Given the description of an element on the screen output the (x, y) to click on. 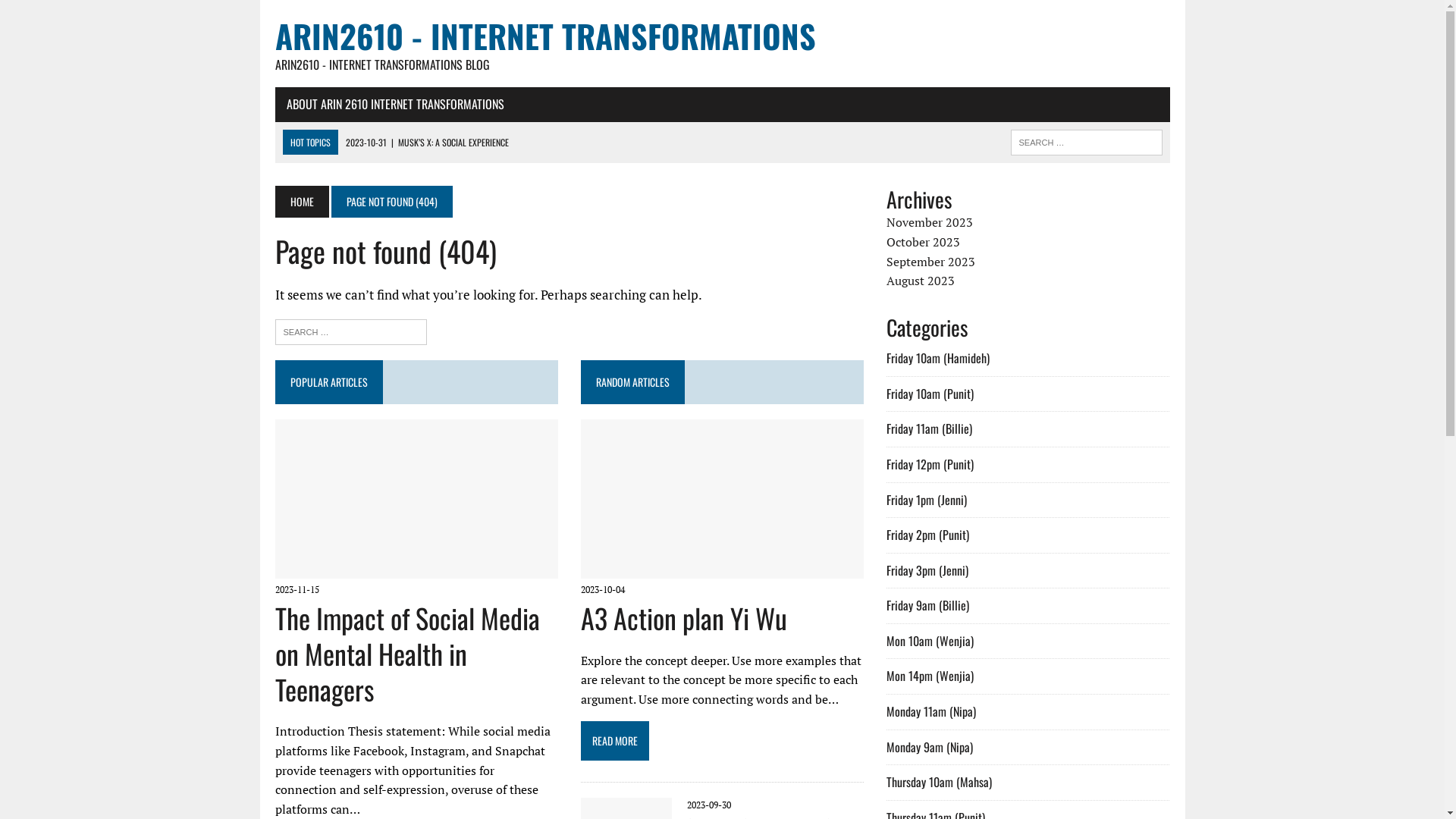
August 2023 Element type: text (920, 280)
Thursday 10am (Mahsa) Element type: text (938, 781)
Mon 14pm (Wenjia) Element type: text (929, 675)
Mon 10am (Wenjia) Element type: text (929, 640)
HOME Element type: text (301, 201)
Friday 2pm (Punit) Element type: text (927, 534)
Friday 1pm (Jenni) Element type: text (926, 499)
Monday 9am (Nipa) Element type: text (929, 746)
Friday 10am (Hamideh) Element type: text (937, 357)
October 2023 Element type: text (923, 241)
ABOUT ARIN 2610 INTERNET TRANSFORMATIONS Element type: text (394, 104)
A3 Action plan Yi Wu Element type: hover (721, 567)
READ MORE Element type: text (721, 738)
Friday 10am (Punit) Element type: text (929, 393)
The Impact of Social Media on Mental Health in Teenagers Element type: hover (415, 567)
Friday 9am (Billie) Element type: text (927, 605)
November 2023 Element type: text (929, 221)
September 2023 Element type: text (930, 261)
Friday 11am (Billie) Element type: text (929, 428)
Search Element type: text (75, 14)
A3 Action plan Yi Wu Element type: text (683, 617)
Friday 12pm (Punit) Element type: text (929, 464)
Monday 11am (Nipa) Element type: text (930, 711)
Friday 3pm (Jenni) Element type: text (927, 570)
The Impact of Social Media on Mental Health in Teenagers Element type: text (406, 653)
